Given the description of an element on the screen output the (x, y) to click on. 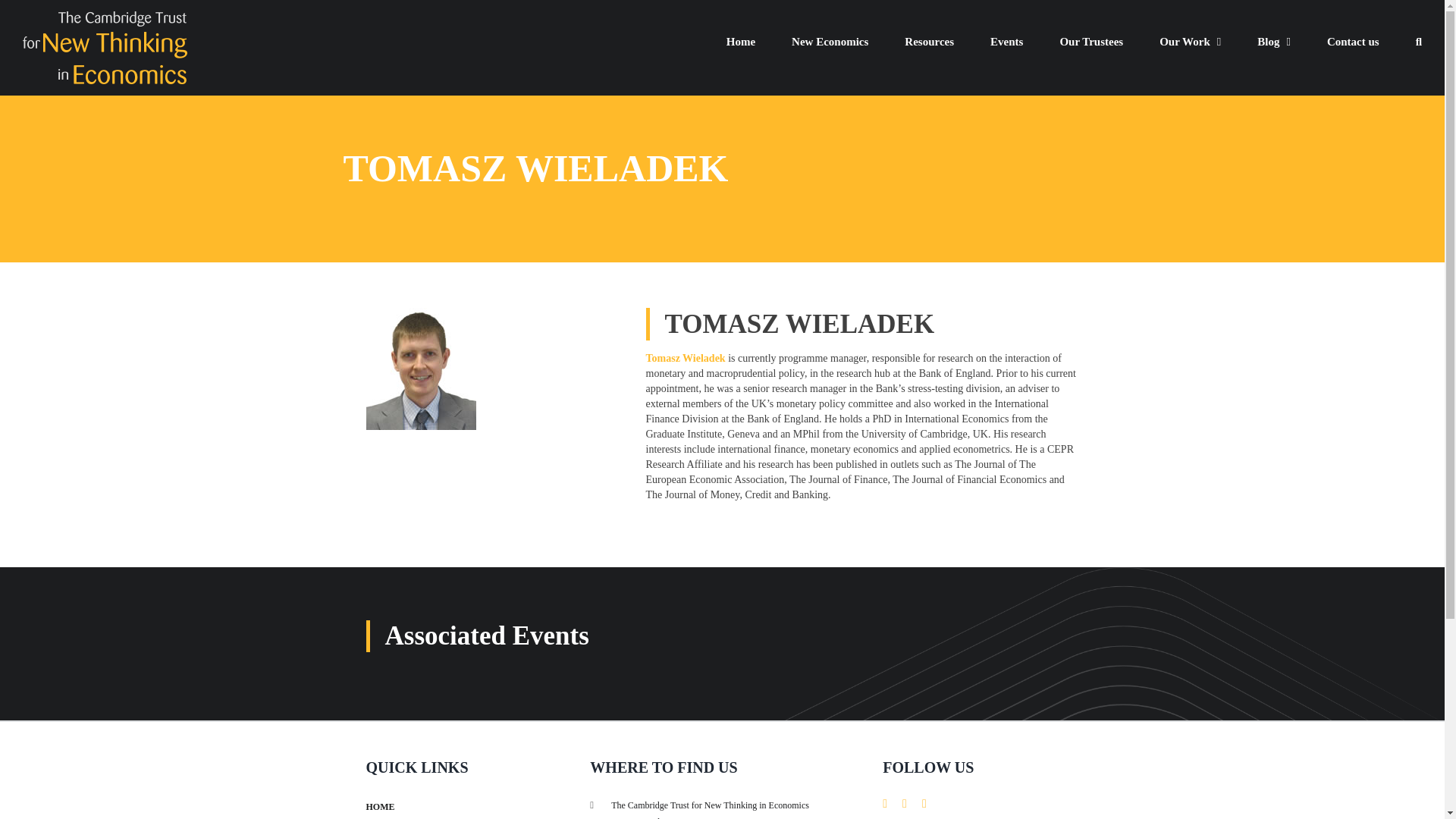
Our Work (1189, 41)
Tomasz Wieladek  (687, 357)
New Economics (829, 41)
HOME (379, 806)
Our Trustees (1090, 41)
